Given the description of an element on the screen output the (x, y) to click on. 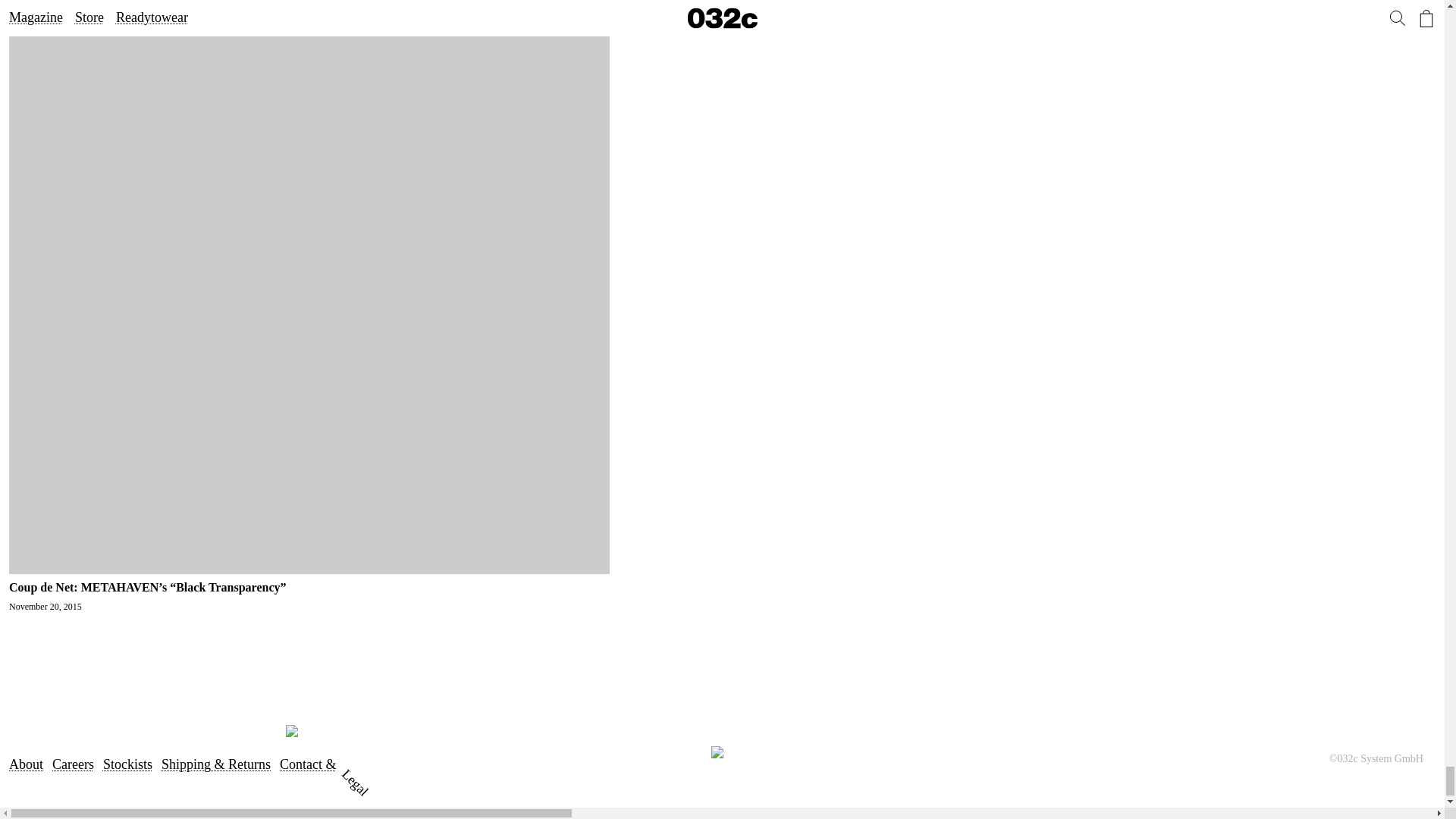
Careers (73, 764)
Stockists (127, 764)
About (25, 764)
